Given the description of an element on the screen output the (x, y) to click on. 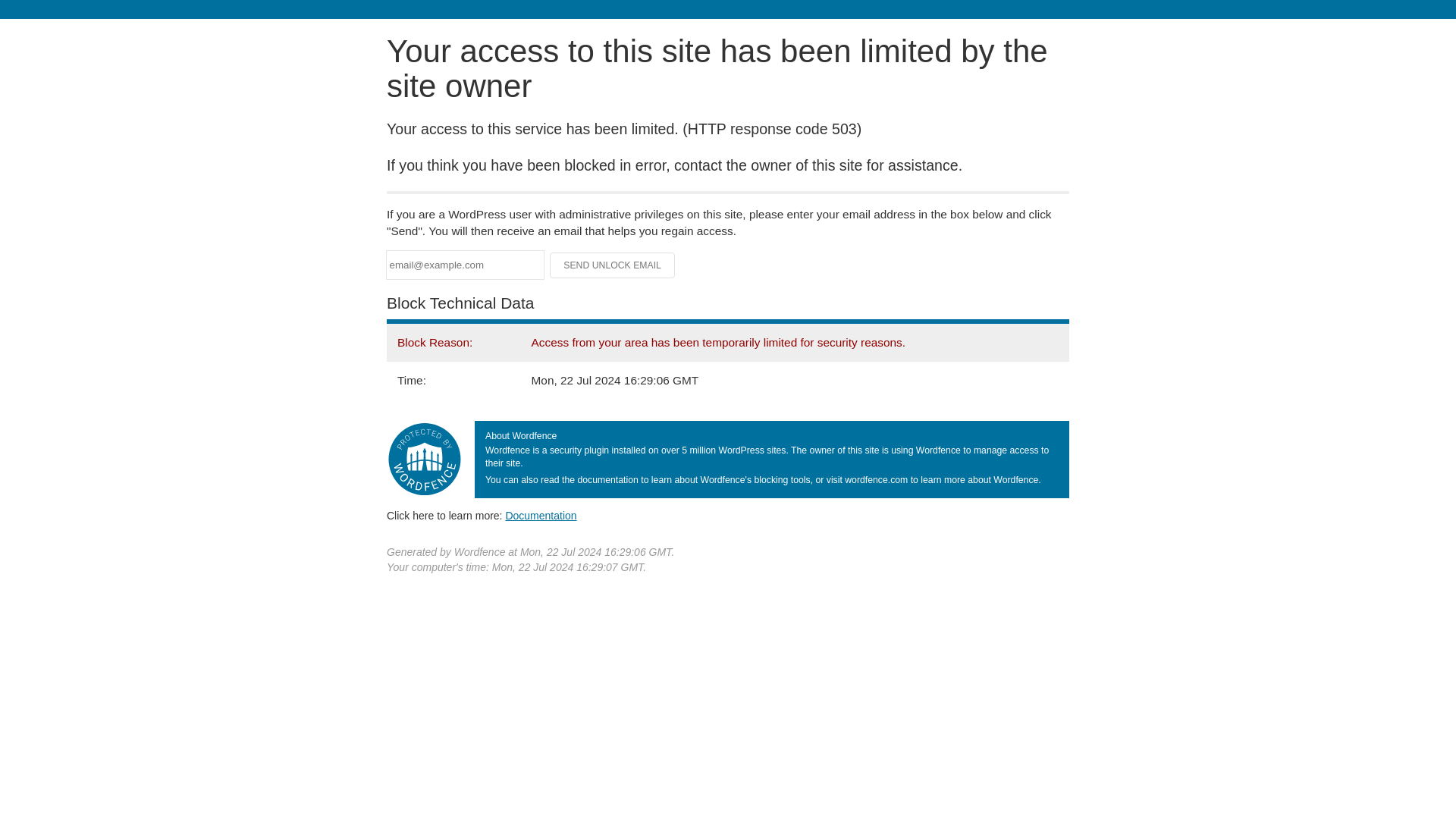
Send Unlock Email (612, 265)
Send Unlock Email (612, 265)
Documentation (540, 515)
